Given the description of an element on the screen output the (x, y) to click on. 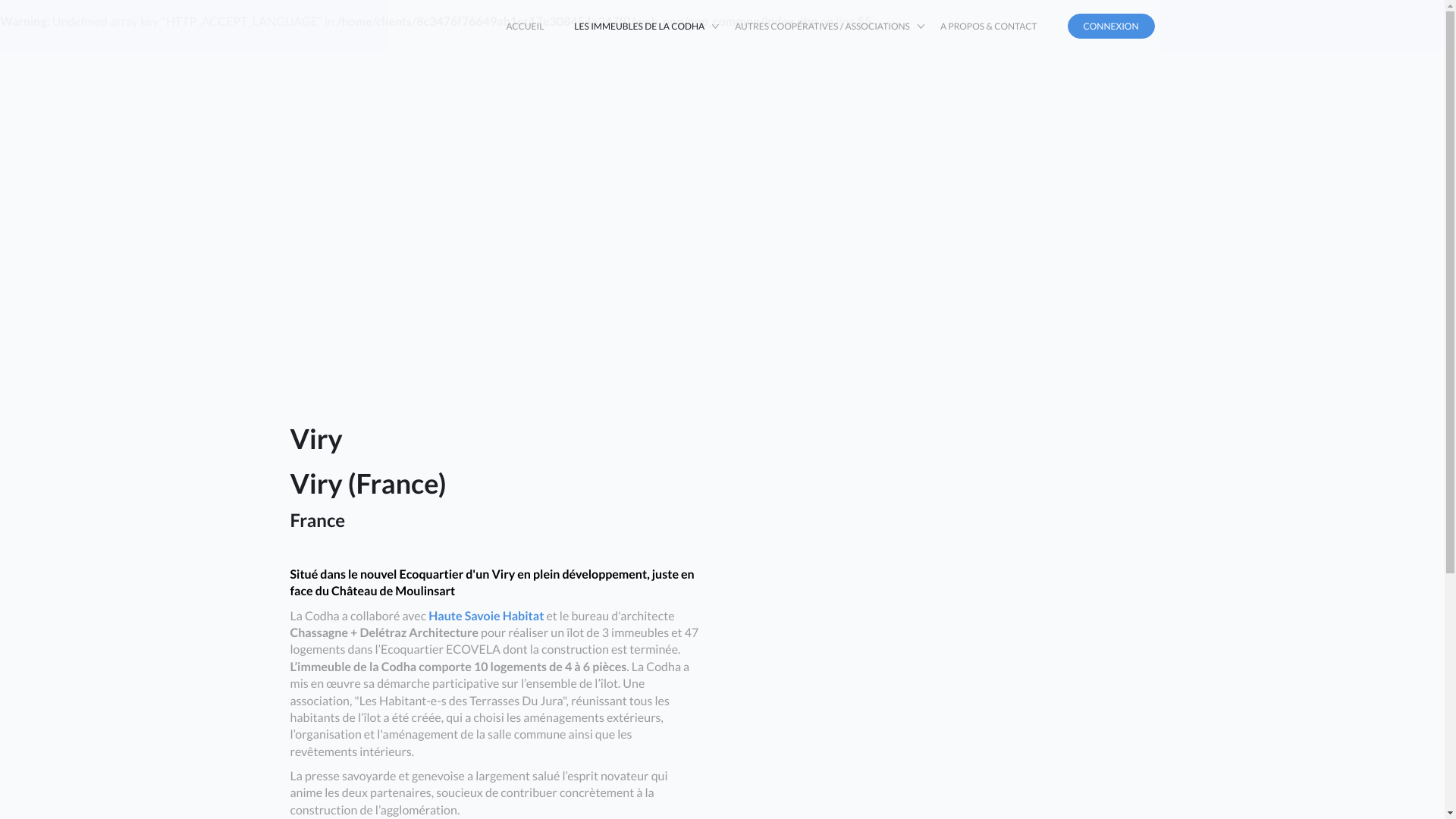
Haute Savoie Habitat Element type: text (485, 615)
CONNEXION Element type: text (1110, 25)
LES IMMEUBLES DE LA CODHA Element type: text (639, 26)
A PROPOS & CONTACT Element type: text (988, 26)
PNP Element type: text (325, 26)
ACCUEIL Element type: text (524, 26)
